Given the description of an element on the screen output the (x, y) to click on. 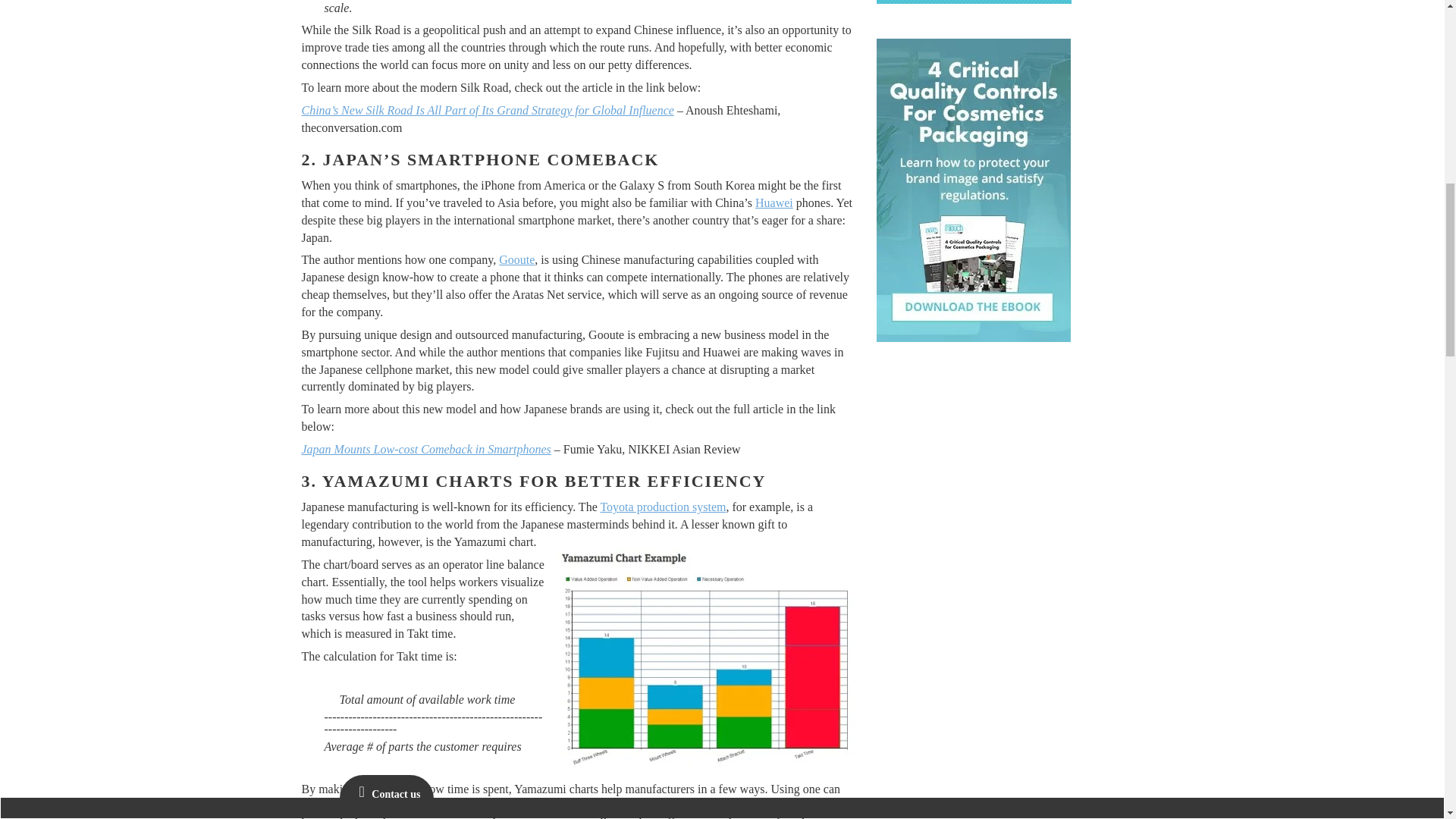
silk road (703, 658)
